Given the description of an element on the screen output the (x, y) to click on. 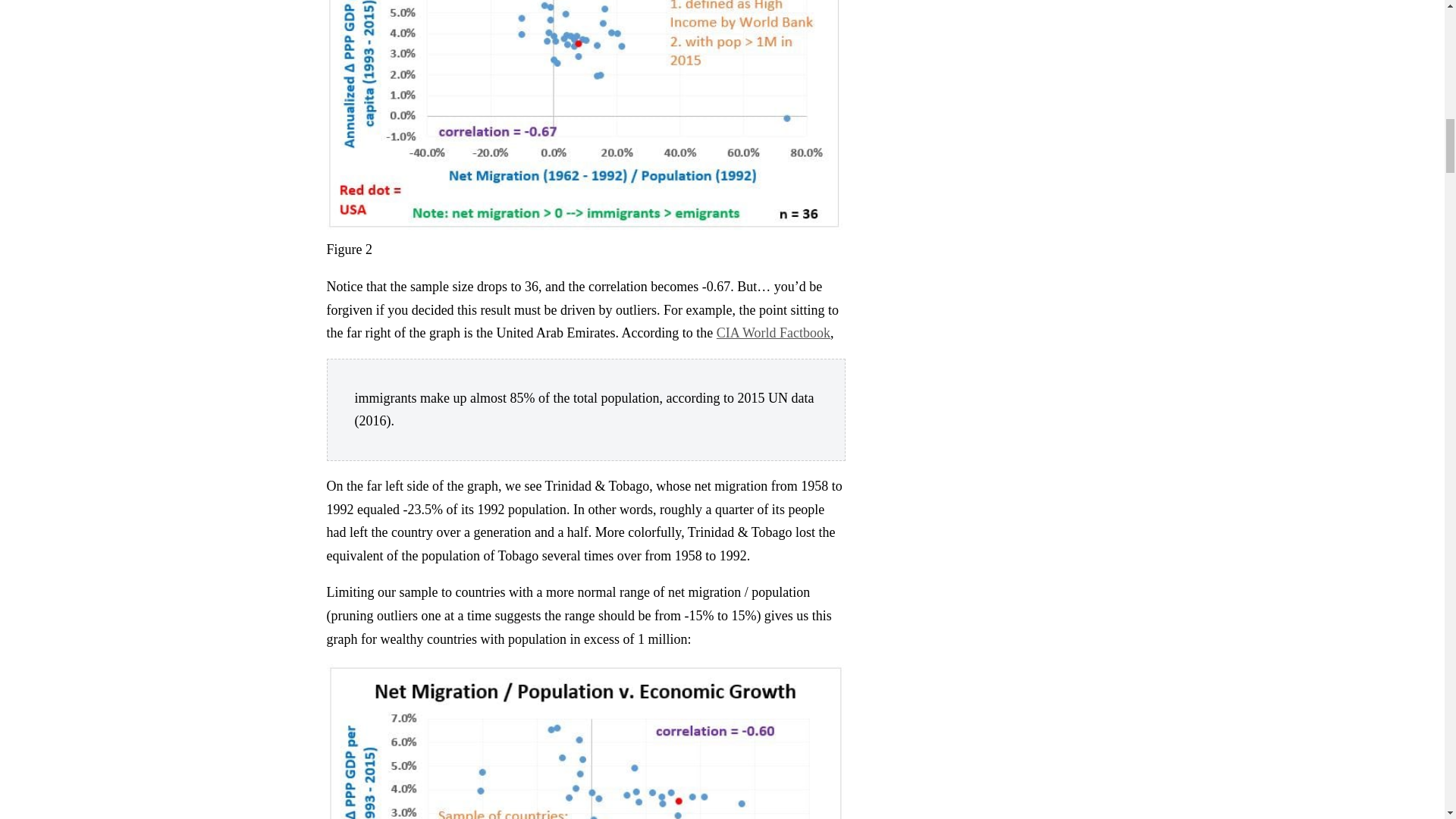
CIA World Factbook (772, 332)
